Given the description of an element on the screen output the (x, y) to click on. 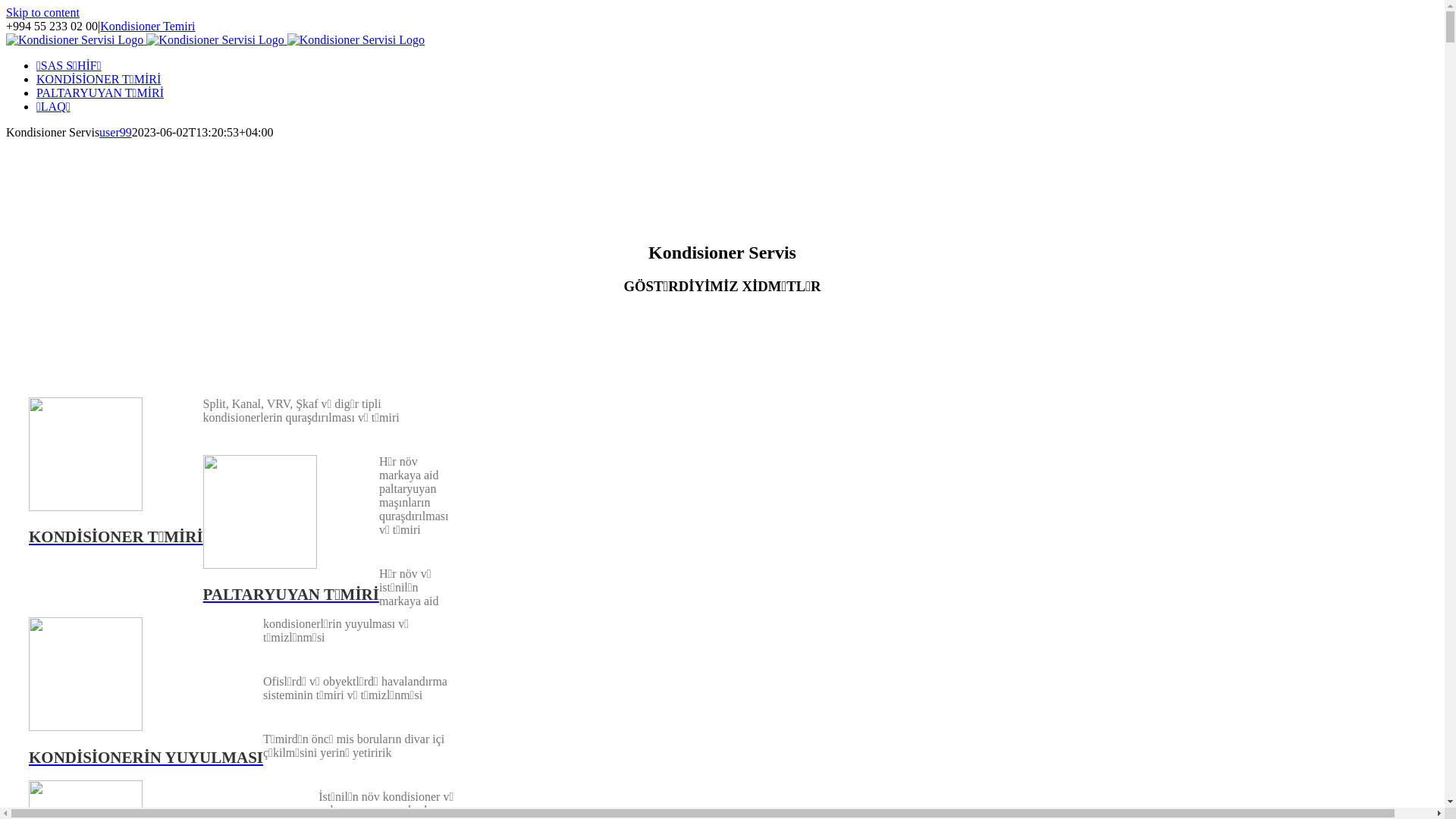
user99 Element type: text (115, 131)
Skip to content Element type: text (42, 12)
Kondisioner Temiri Element type: text (147, 25)
